Given the description of an element on the screen output the (x, y) to click on. 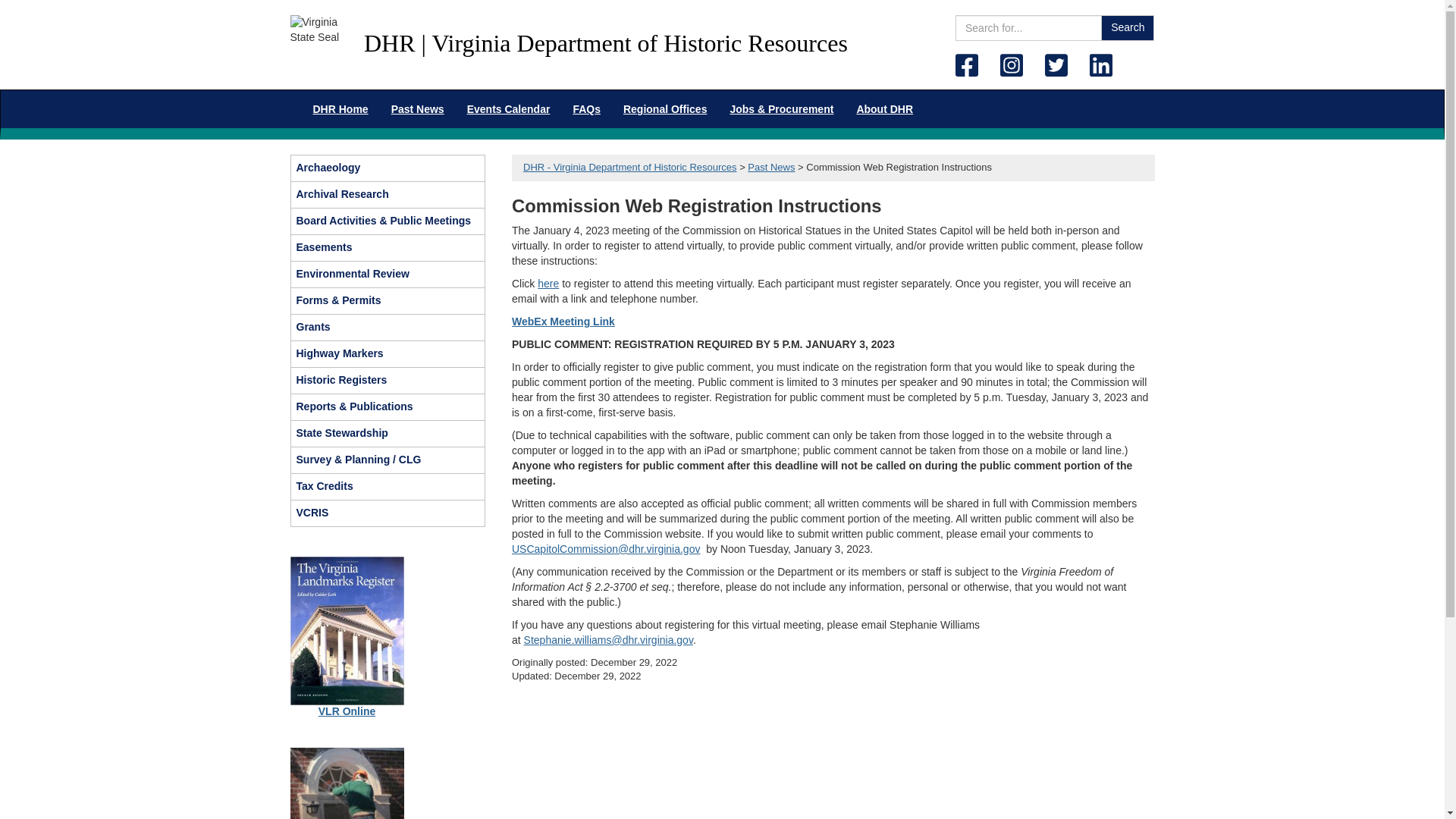
Events Calendar (508, 108)
About DHR (884, 108)
Environmental Review (387, 274)
Go to the Past News Category archives. (771, 166)
Regional Offices (664, 108)
State Stewardship (387, 433)
Highway Markers (387, 353)
FAQs (585, 108)
Tax Credits (387, 486)
Past News (417, 108)
VLR Online (346, 711)
DHR - Virginia Department of Historic Resources (629, 166)
Historic Registers (387, 380)
Past News (771, 166)
Go to DHR - Virginia Department of Historic Resources. (629, 166)
